Given the description of an element on the screen output the (x, y) to click on. 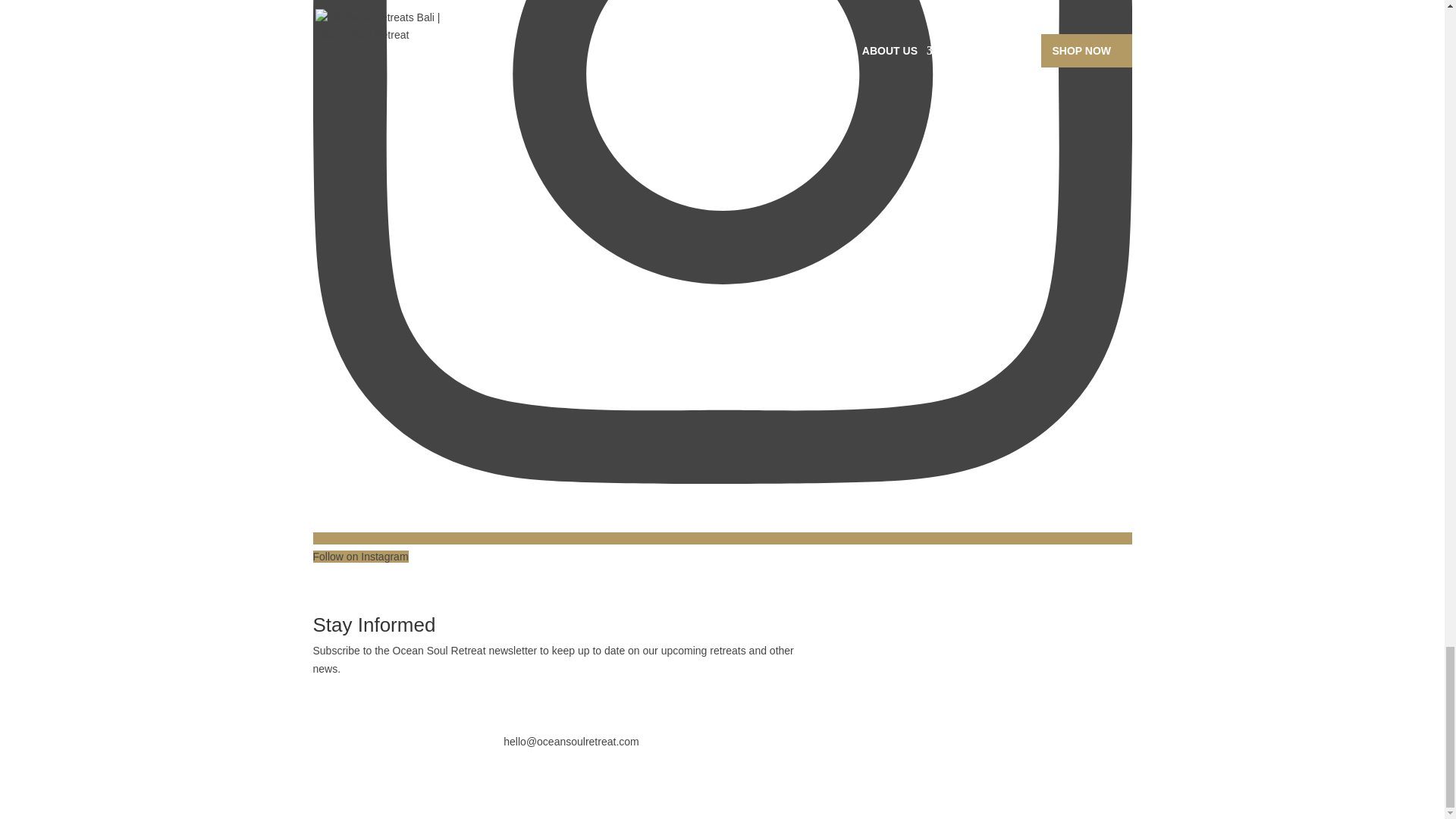
Follow on Instagram (722, 547)
email ocean soul retreat (571, 741)
Follow on Facebook (324, 702)
Follow on Instagram (354, 702)
Follow on Pinterest (384, 702)
